Given the description of an element on the screen output the (x, y) to click on. 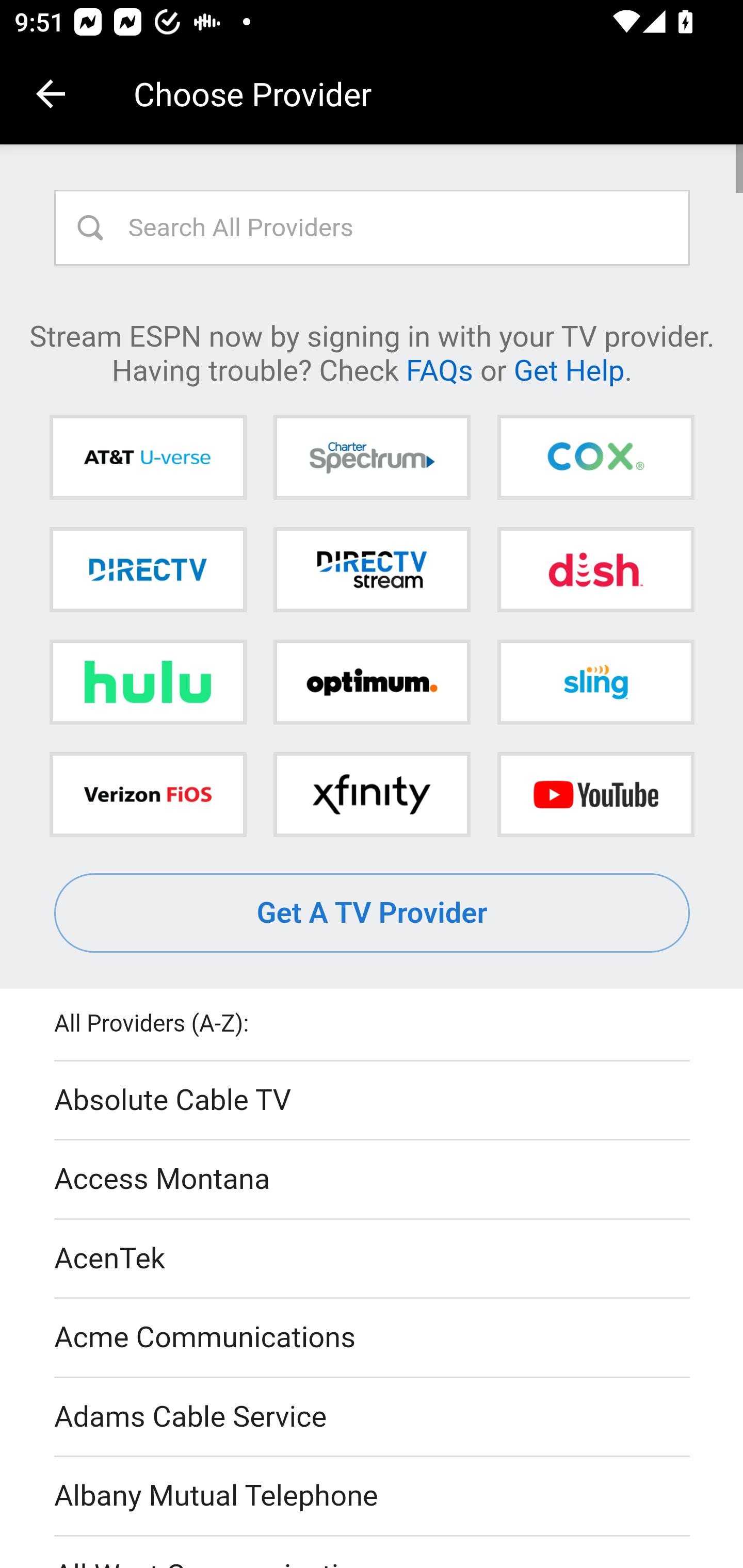
Navigate up (50, 93)
FAQs (438, 369)
Get Help (569, 369)
AT&T U-verse (147, 457)
Charter Spectrum (371, 457)
Cox (595, 457)
DIRECTV (147, 568)
DIRECTV STREAM (371, 568)
DISH (595, 568)
Hulu (147, 681)
Optimum (371, 681)
Sling TV (595, 681)
Verizon FiOS (147, 793)
Xfinity (371, 793)
YouTube TV (595, 793)
Get A TV Provider (372, 912)
Absolute Cable TV (372, 1100)
Access Montana (372, 1178)
AcenTek (372, 1258)
Acme Communications (372, 1338)
Adams Cable Service (372, 1417)
Albany Mutual Telephone (372, 1497)
